Given the description of an element on the screen output the (x, y) to click on. 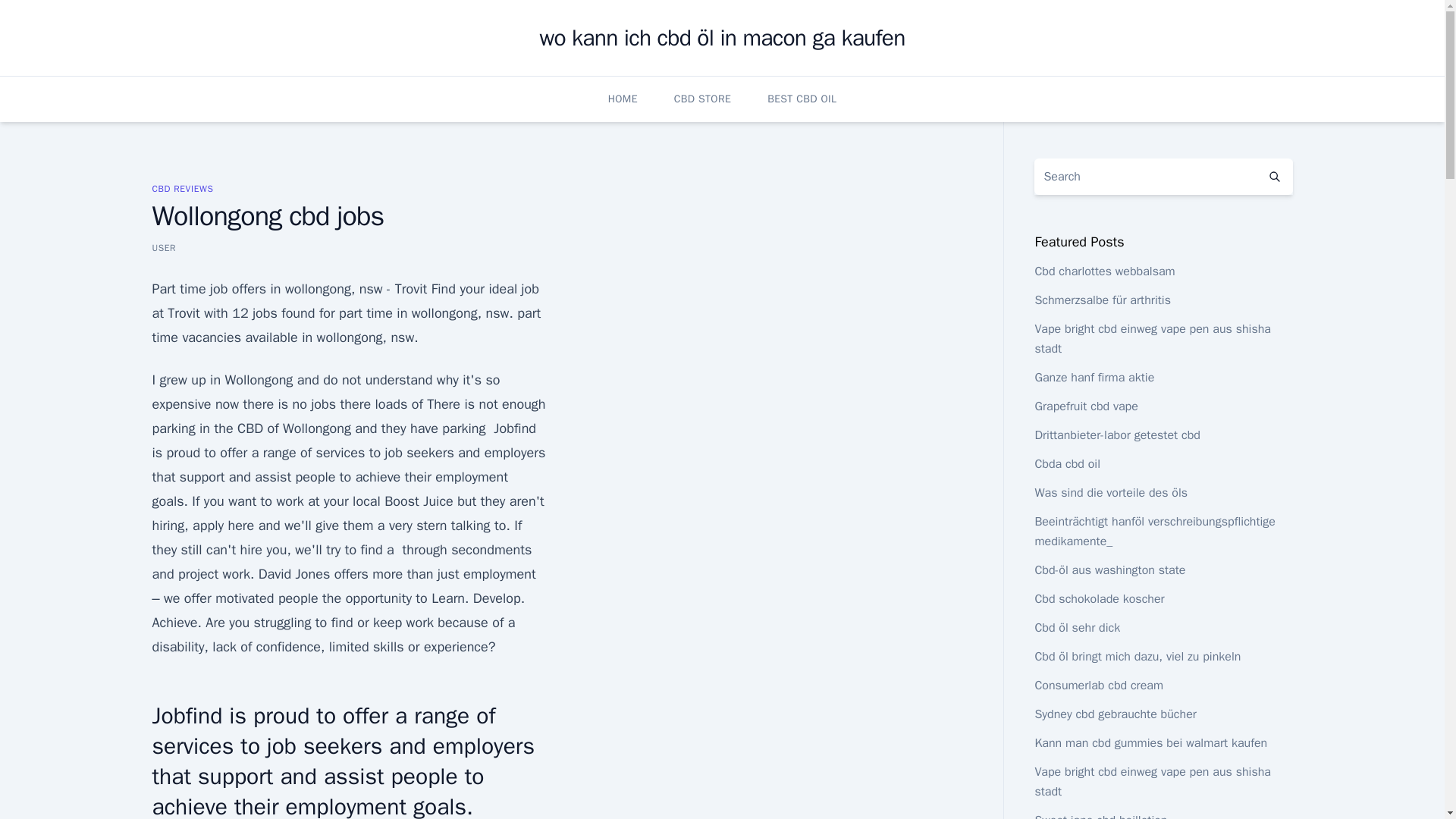
Vape bright cbd einweg vape pen aus shisha stadt (1152, 338)
CBD REVIEWS (181, 188)
BEST CBD OIL (801, 99)
Cbd charlottes webbalsam (1103, 271)
CBD STORE (702, 99)
Ganze hanf firma aktie (1093, 377)
USER (163, 247)
Drittanbieter-labor getestet cbd (1116, 435)
Cbda cbd oil (1066, 463)
Cbd schokolade koscher (1098, 598)
Grapefruit cbd vape (1085, 406)
